Given the description of an element on the screen output the (x, y) to click on. 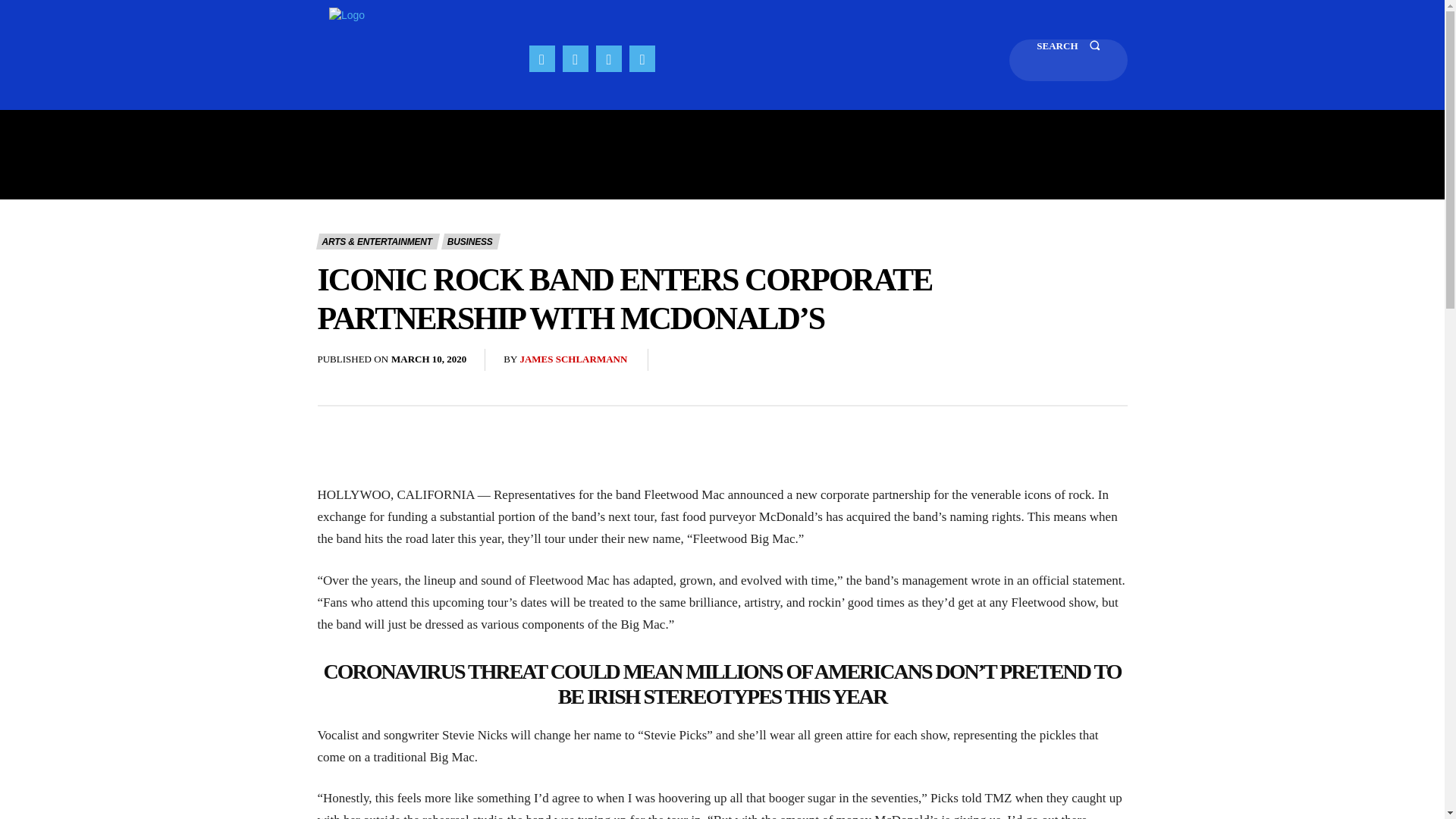
Instagram (575, 58)
TikTok (608, 58)
SEARCH (1067, 60)
Twitter (641, 58)
Facebook (541, 58)
Search (1067, 60)
JAMES SCHLARMANN (573, 359)
BUSINESS (470, 241)
